Given the description of an element on the screen output the (x, y) to click on. 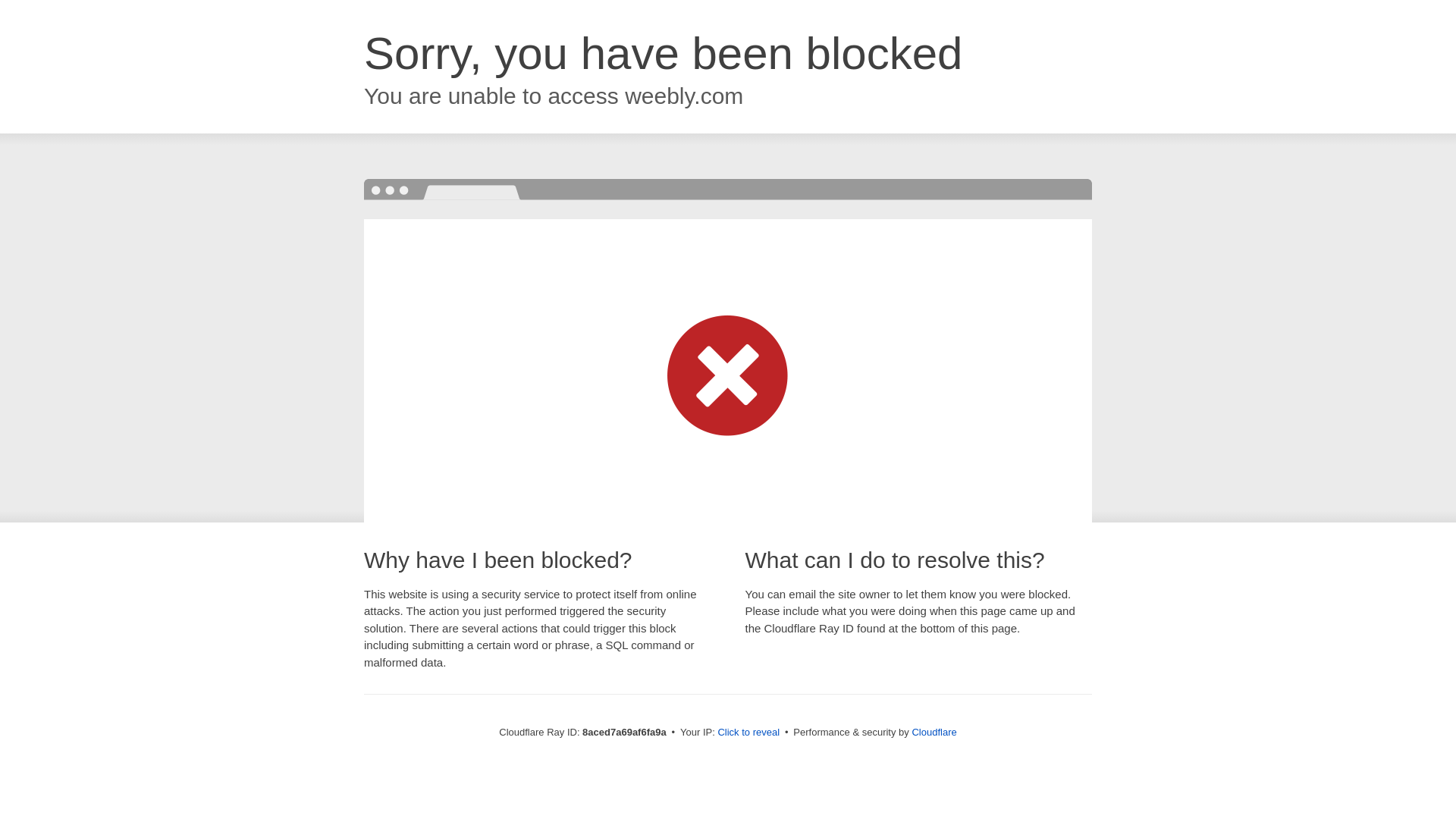
Click to reveal (747, 732)
Cloudflare (933, 731)
